Given the description of an element on the screen output the (x, y) to click on. 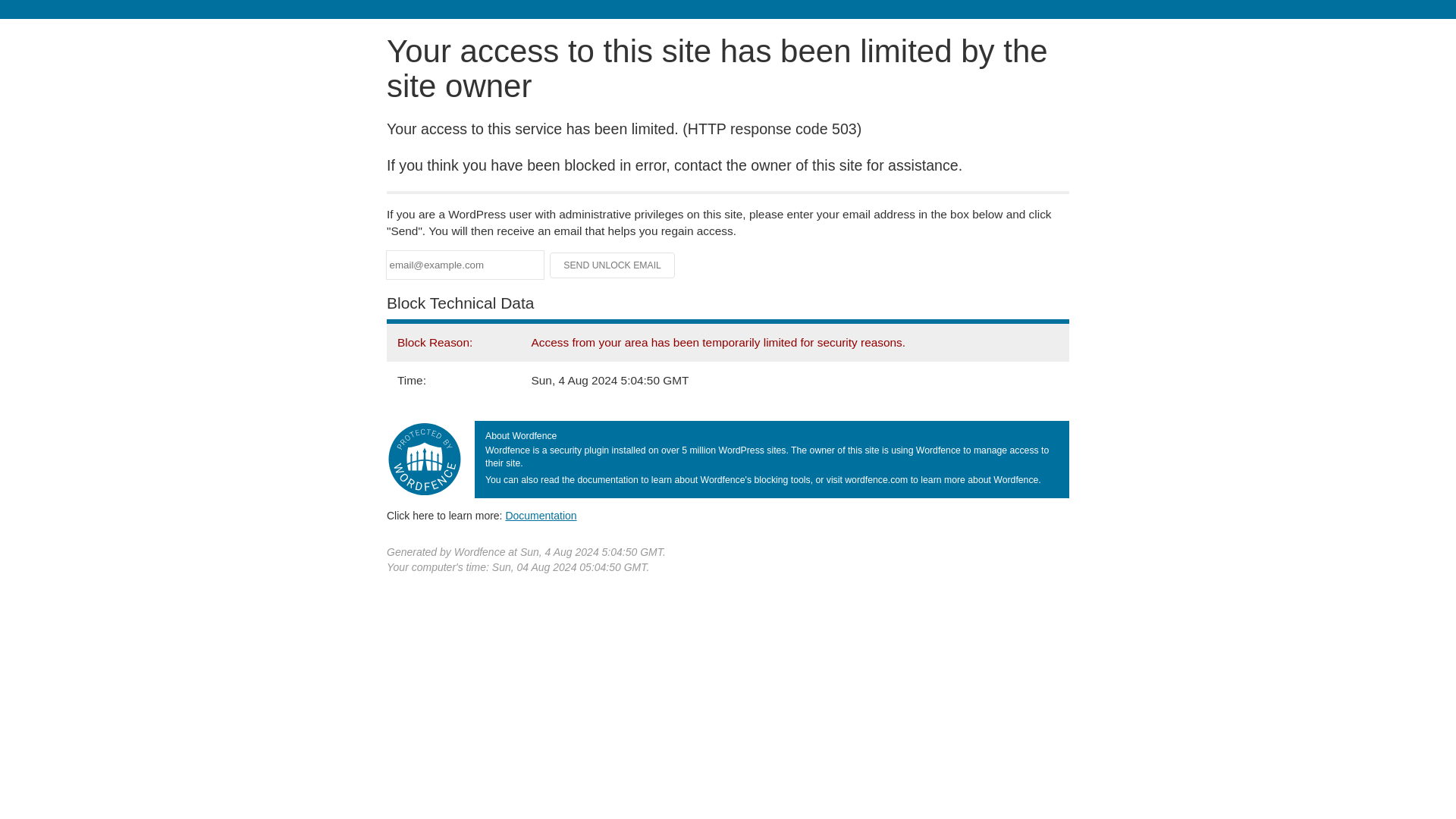
Documentation (540, 515)
Send Unlock Email (612, 265)
Send Unlock Email (612, 265)
